Given the description of an element on the screen output the (x, y) to click on. 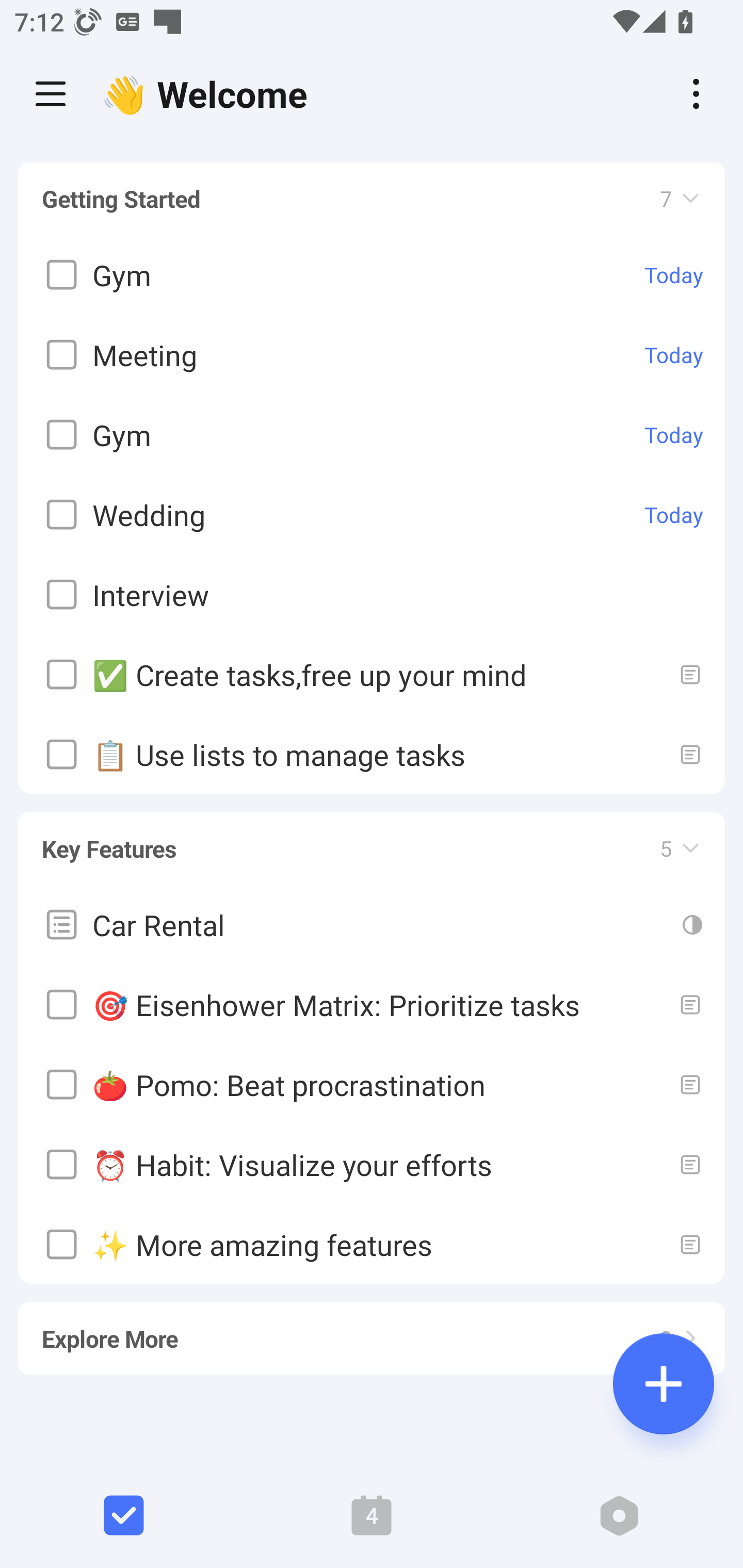
👋 Welcome (209, 93)
Getting Started 7 (371, 199)
Gym Today (371, 275)
Today (673, 275)
Meeting Today (371, 355)
Today (673, 355)
Gym Today (371, 435)
Today (673, 435)
Wedding Today (371, 515)
Today (673, 514)
Interview (371, 595)
✅ Create tasks,free up your mind (371, 675)
📋 Use lists to manage tasks (371, 754)
Key Features 5 (371, 839)
Car Rental (371, 924)
🎯 Eisenhower Matrix: Prioritize tasks (371, 1004)
🍅 Pomo: Beat procrastination (371, 1084)
⏰ Habit: Visualize your efforts (371, 1164)
✨ More amazing features (371, 1244)
Explore More 2 (371, 1329)
